Given the description of an element on the screen output the (x, y) to click on. 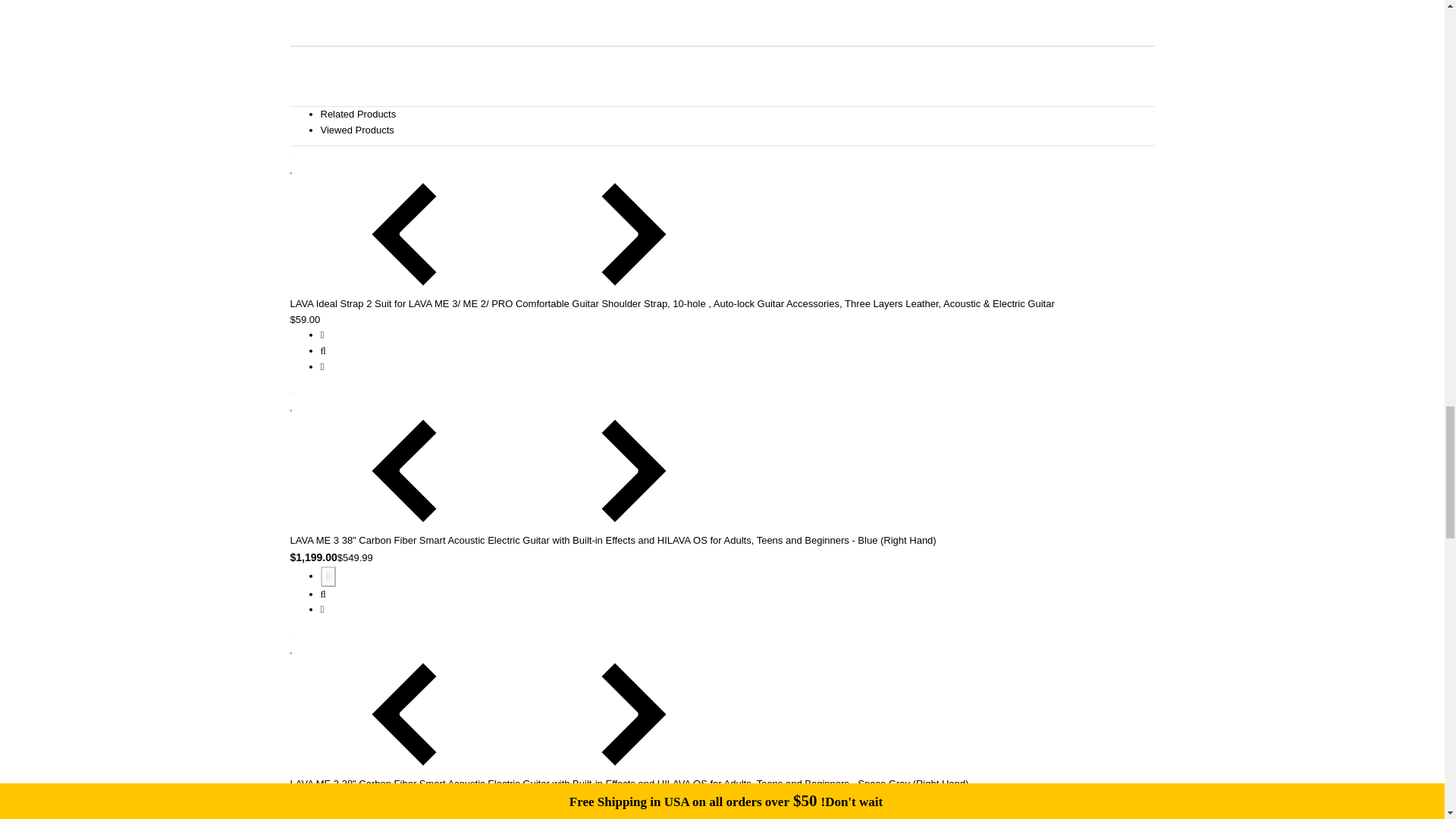
Add to cart (328, 814)
